Given the description of an element on the screen output the (x, y) to click on. 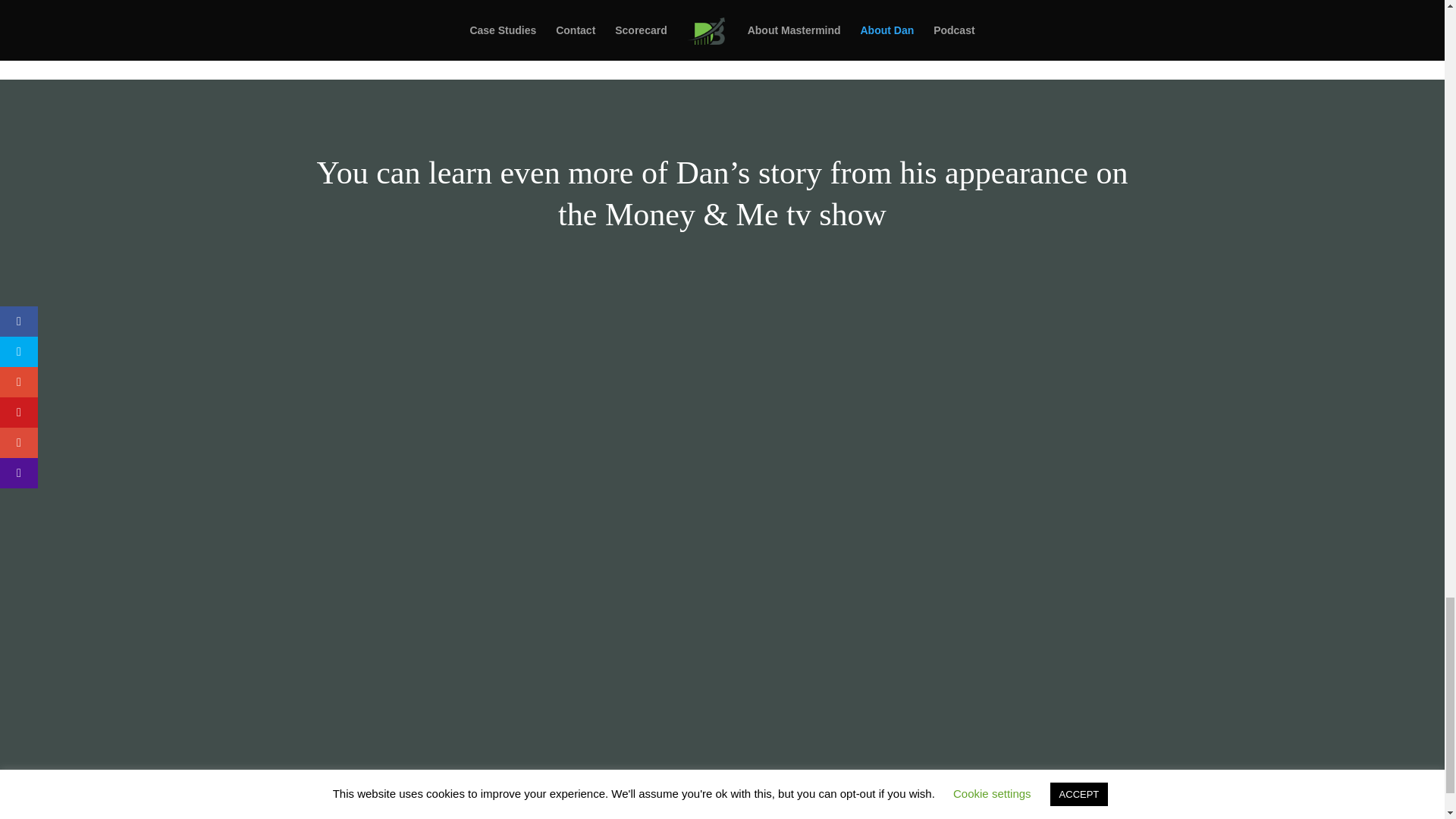
Case Studies (394, 814)
Contact (467, 814)
Home (327, 814)
Privacy Policy (542, 814)
